Given the description of an element on the screen output the (x, y) to click on. 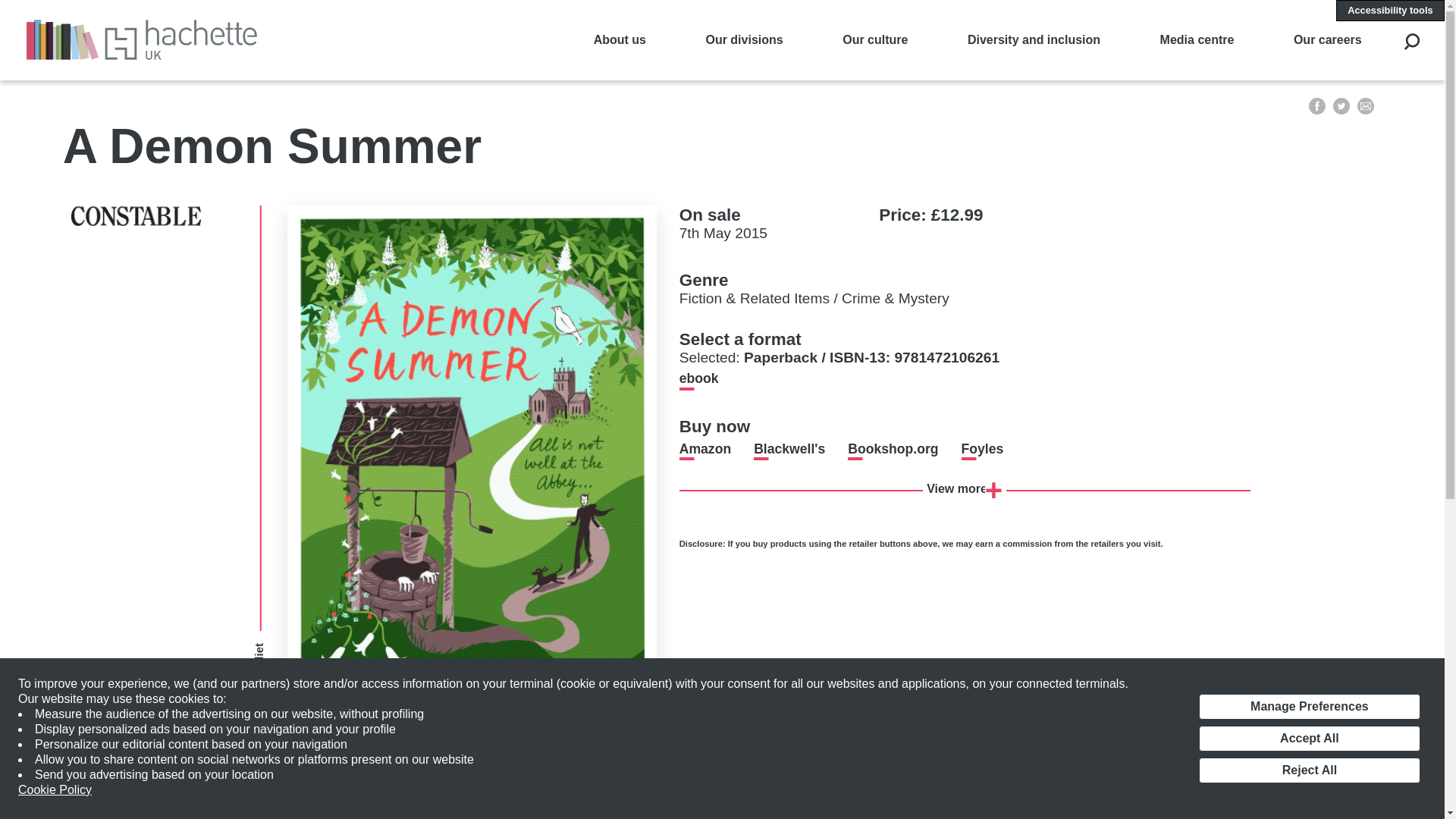
Cookie Policy (54, 789)
Reject All (1309, 769)
Our divisions (743, 39)
Manage Preferences (1309, 706)
ebook (699, 378)
Our culture (875, 39)
Accept All (1309, 738)
About us (620, 39)
